Given the description of an element on the screen output the (x, y) to click on. 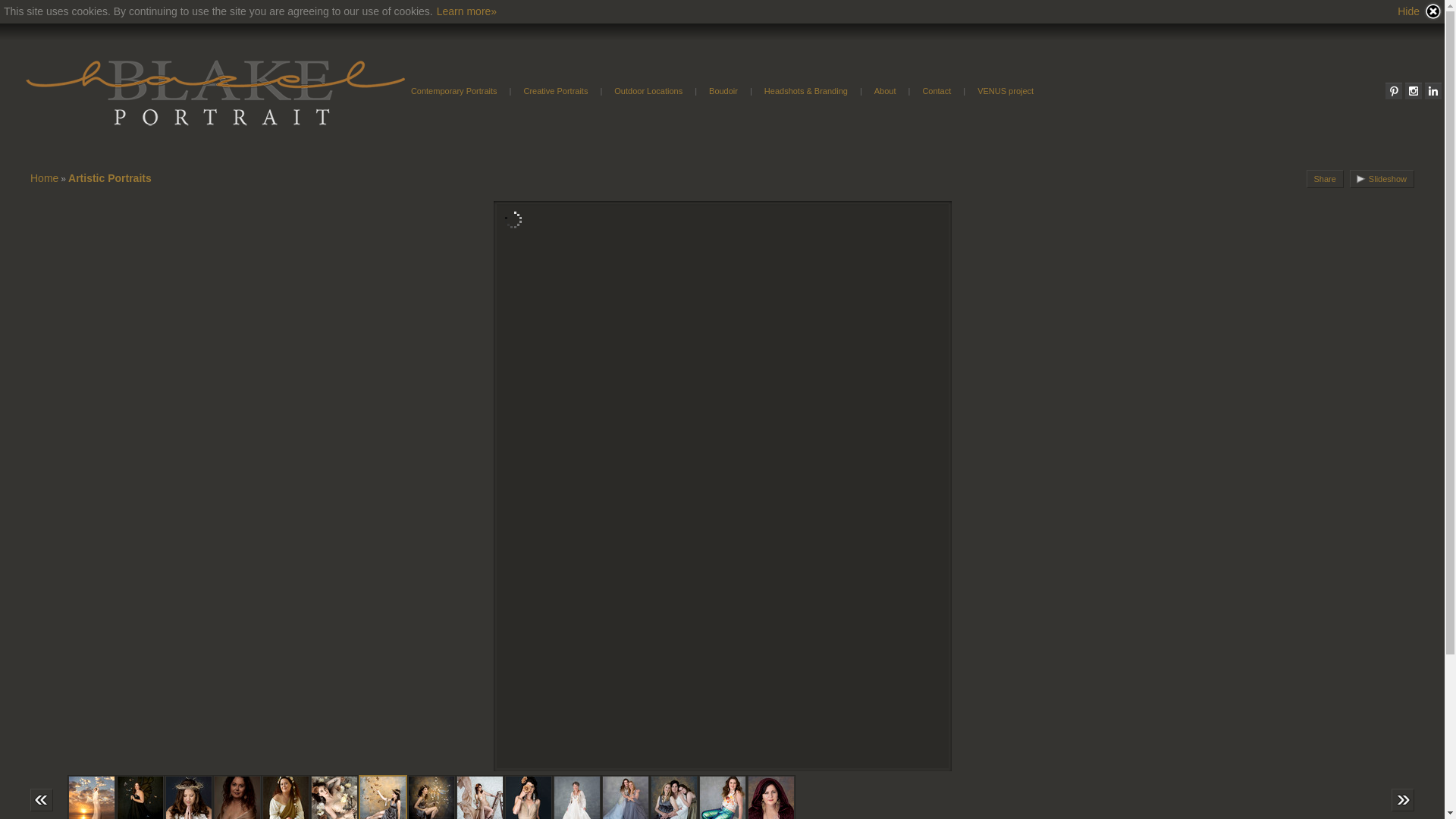
Hazel Blake Portrait Element type: hover (216, 90)
About Element type: text (885, 90)
Boudoir Element type: text (722, 90)
Headshots & Branding Element type: text (805, 90)
Contemporary Portraits Element type: text (453, 90)
Creative Portraits Element type: text (555, 90)
Contact Element type: text (936, 90)
More Thumbnails Element type: hover (1402, 799)
Home Element type: text (44, 178)
Hide Element type: text (1419, 11)
Outdoor Locations Element type: text (648, 90)
More Thumbnails Element type: hover (41, 799)
VENUS project Element type: text (1005, 90)
Artistic Portraits Element type: text (109, 178)
